Given the description of an element on the screen output the (x, y) to click on. 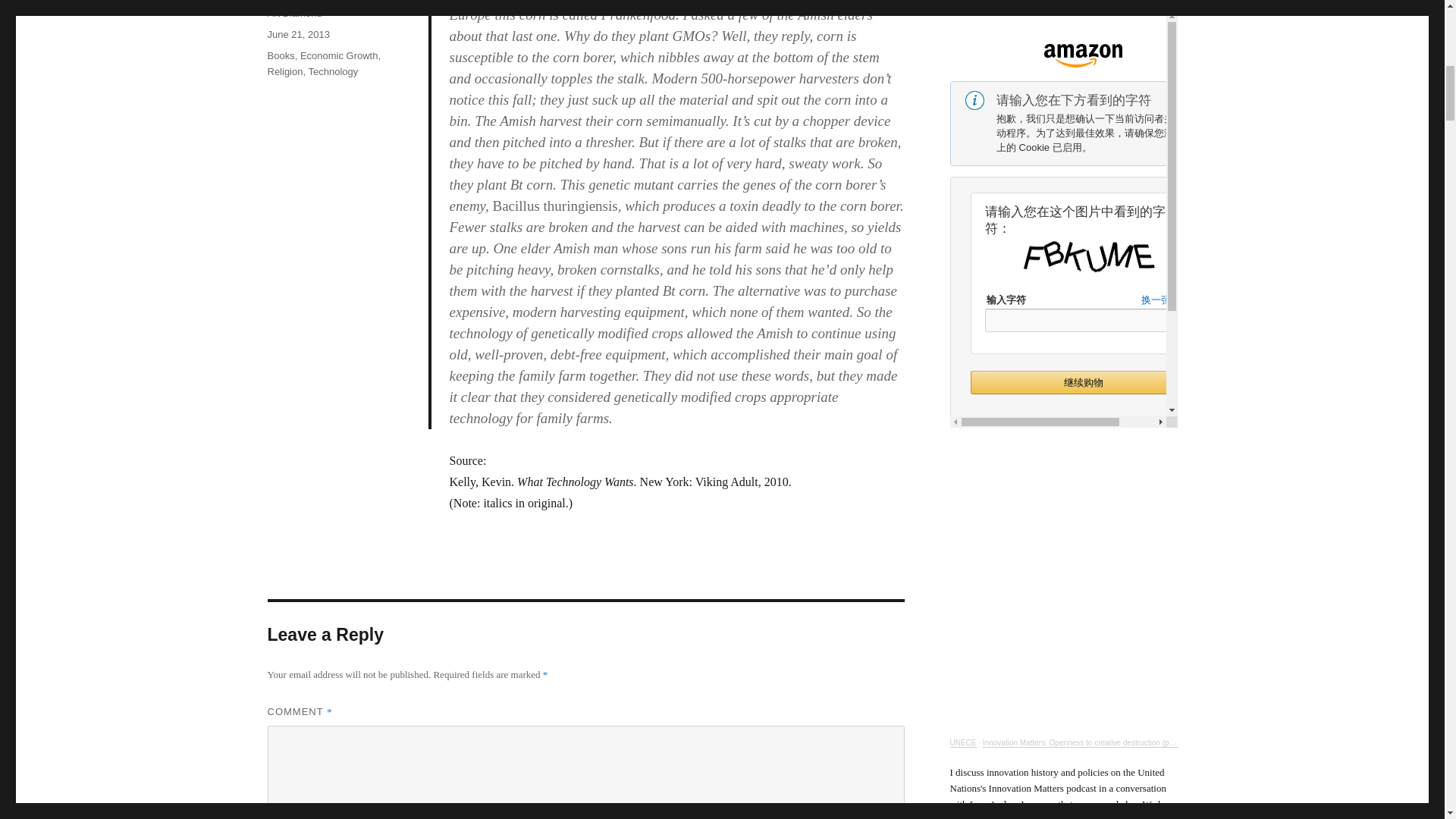
UNECE (962, 742)
June 21, 2013 (297, 34)
Economic Growth (338, 55)
UNECE (962, 742)
Technology (332, 71)
Books (280, 55)
Art Diamond (293, 12)
Religion (284, 71)
